Given the description of an element on the screen output the (x, y) to click on. 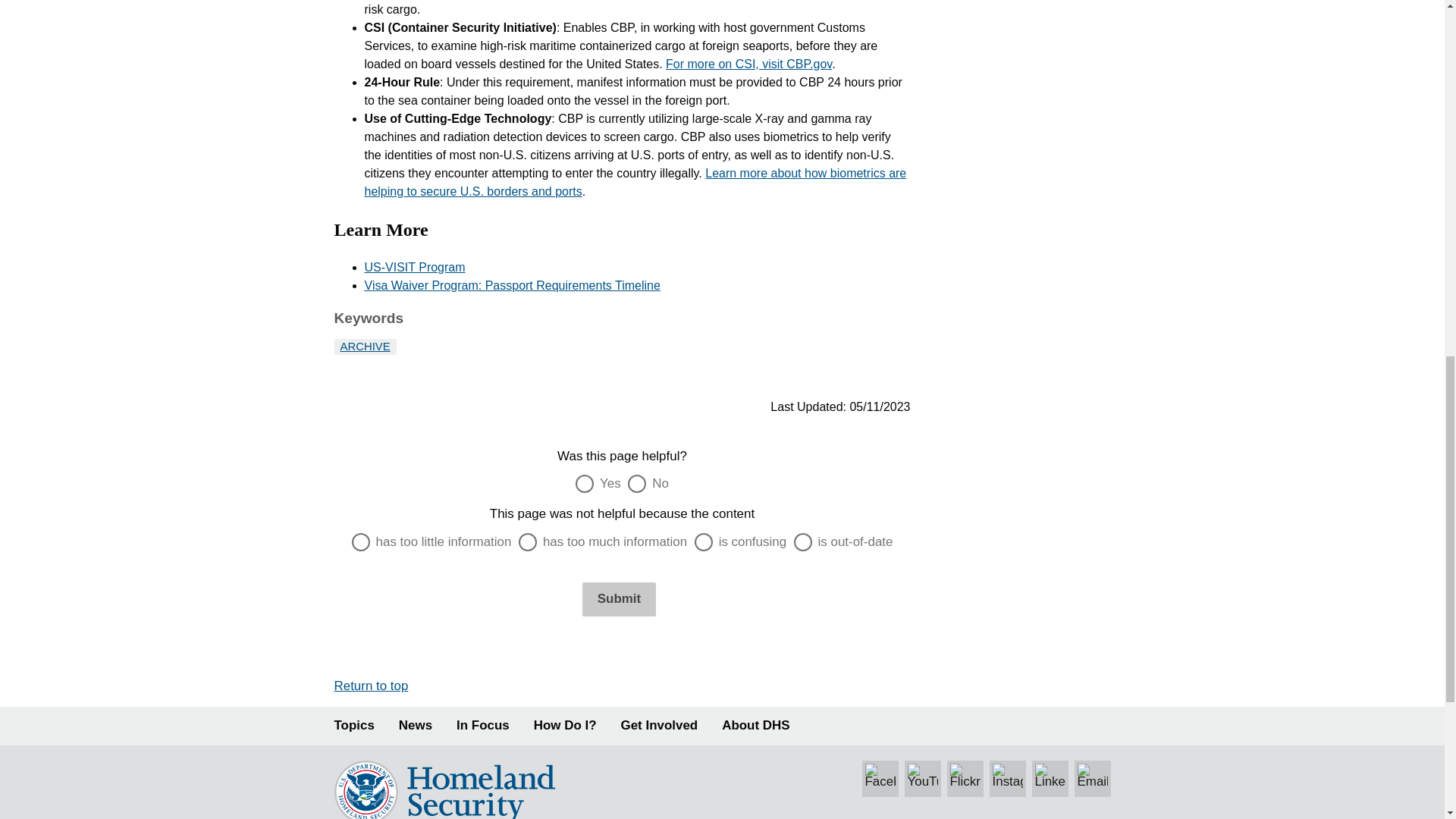
Topics (353, 725)
For more on CSI, visit CBP.gov (748, 63)
Submit (619, 598)
Topics (353, 725)
Get Involved (659, 725)
Visa Waiver Program: Passport Requirements Timeline (511, 285)
ARCHIVE (364, 346)
About DHS (755, 725)
In Focus (483, 725)
How Do I? (565, 725)
